Given the description of an element on the screen output the (x, y) to click on. 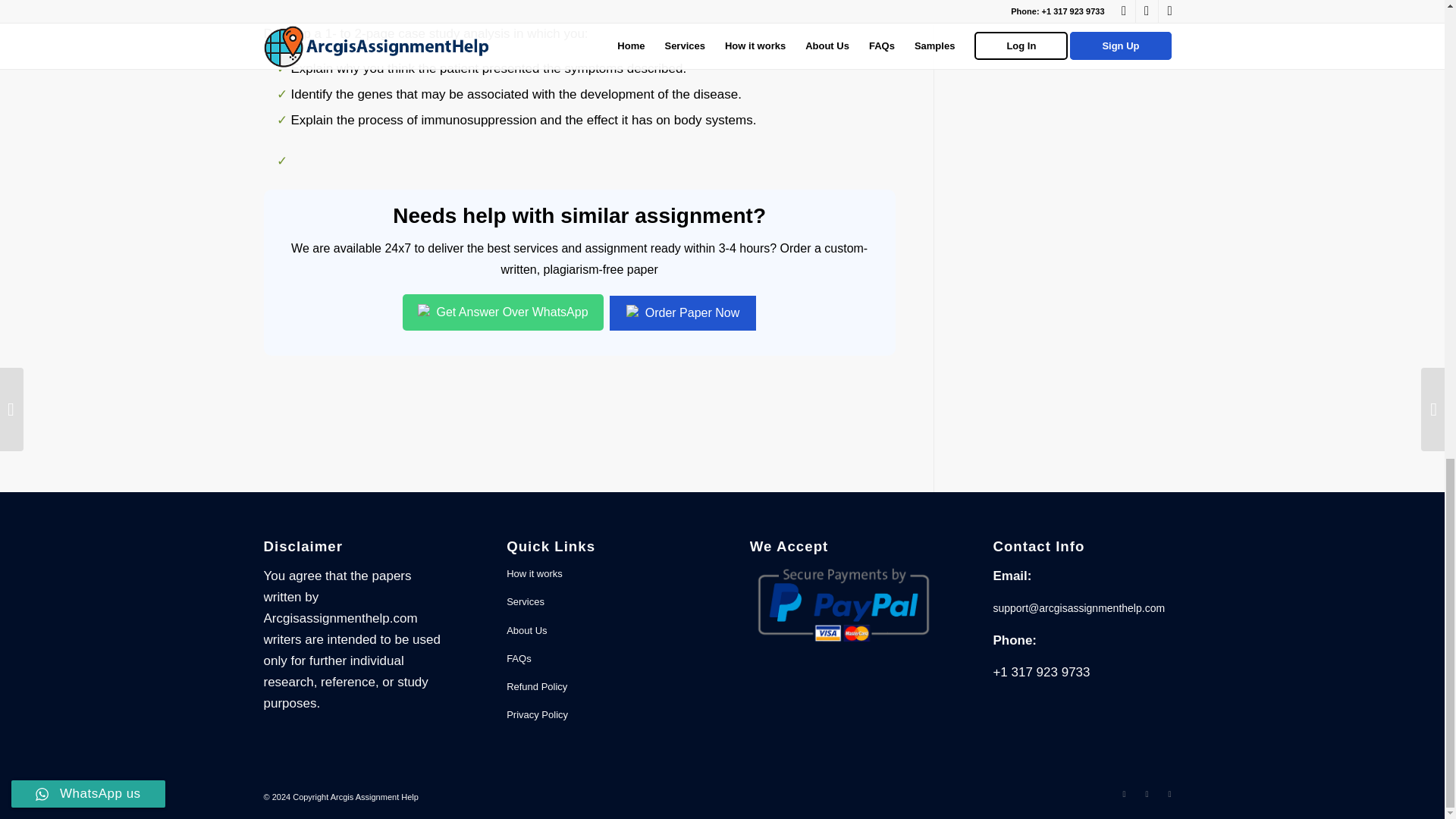
FAQs (600, 659)
Get Answer Over WhatsApp (503, 312)
How it works (600, 574)
Services (600, 602)
Order Paper Now (682, 312)
Facebook (1124, 793)
Pinterest (1169, 793)
About Us (600, 631)
Privacy Policy (600, 715)
Refund Policy (600, 687)
Twitter (1146, 793)
